Given the description of an element on the screen output the (x, y) to click on. 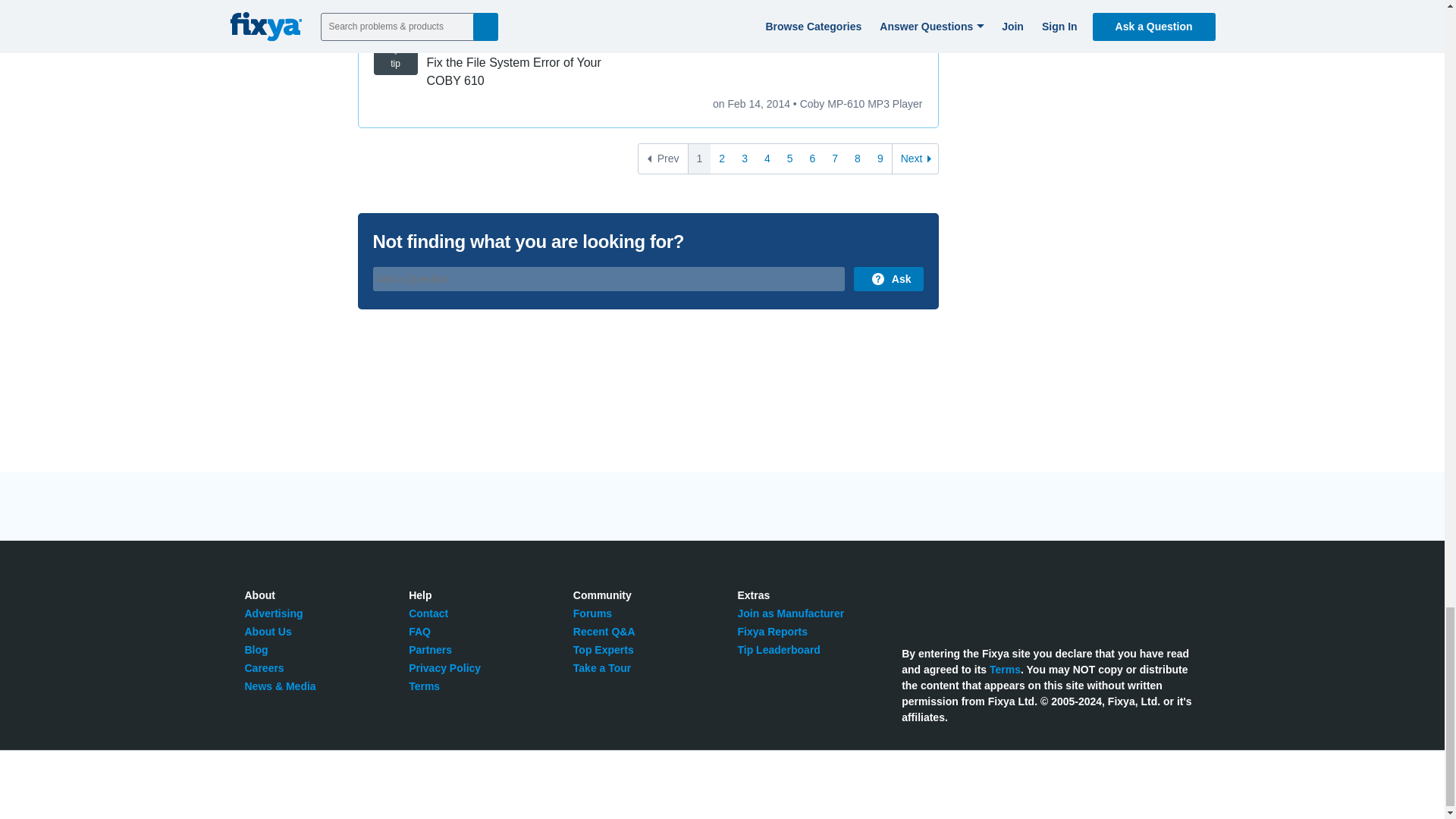
Join Fixya on Facebook (945, 601)
Connect with Fixya on LinkedIn (978, 601)
Ask (888, 278)
Follow Fixya on Twitter (910, 601)
